Given the description of an element on the screen output the (x, y) to click on. 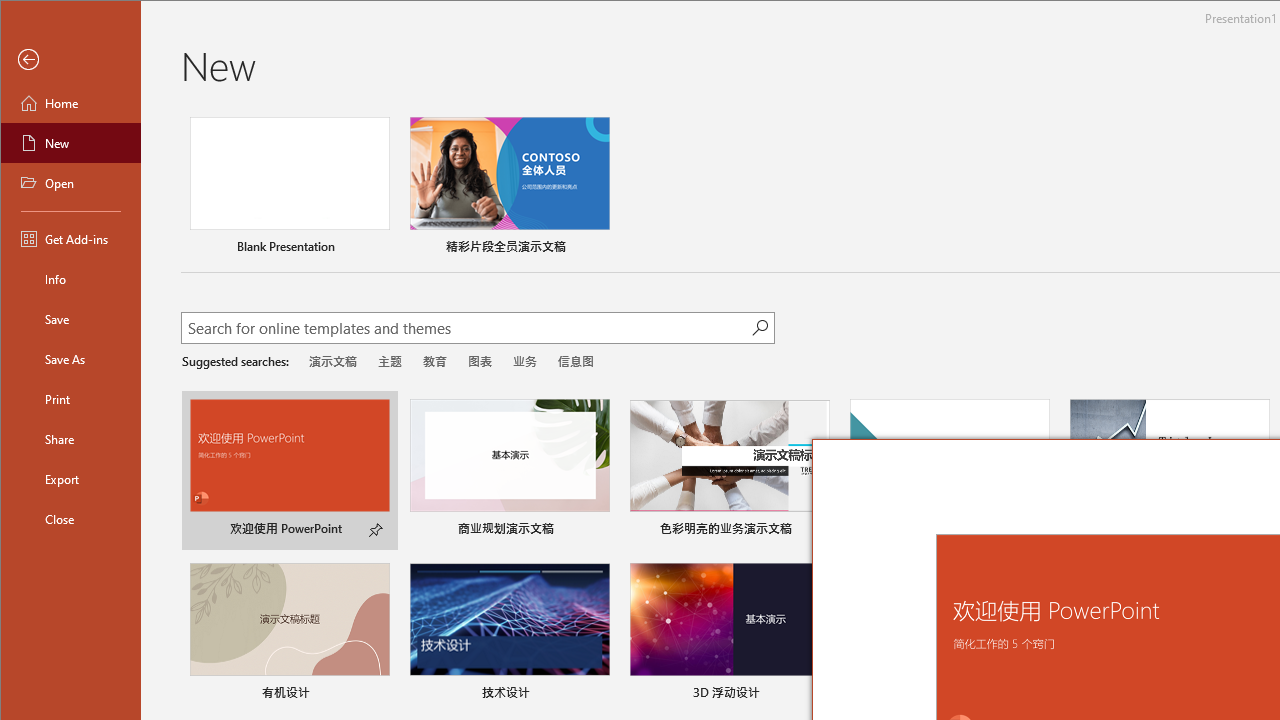
Back (70, 60)
Pin to list (596, 695)
Export (70, 478)
Save As (70, 358)
